Given the description of an element on the screen output the (x, y) to click on. 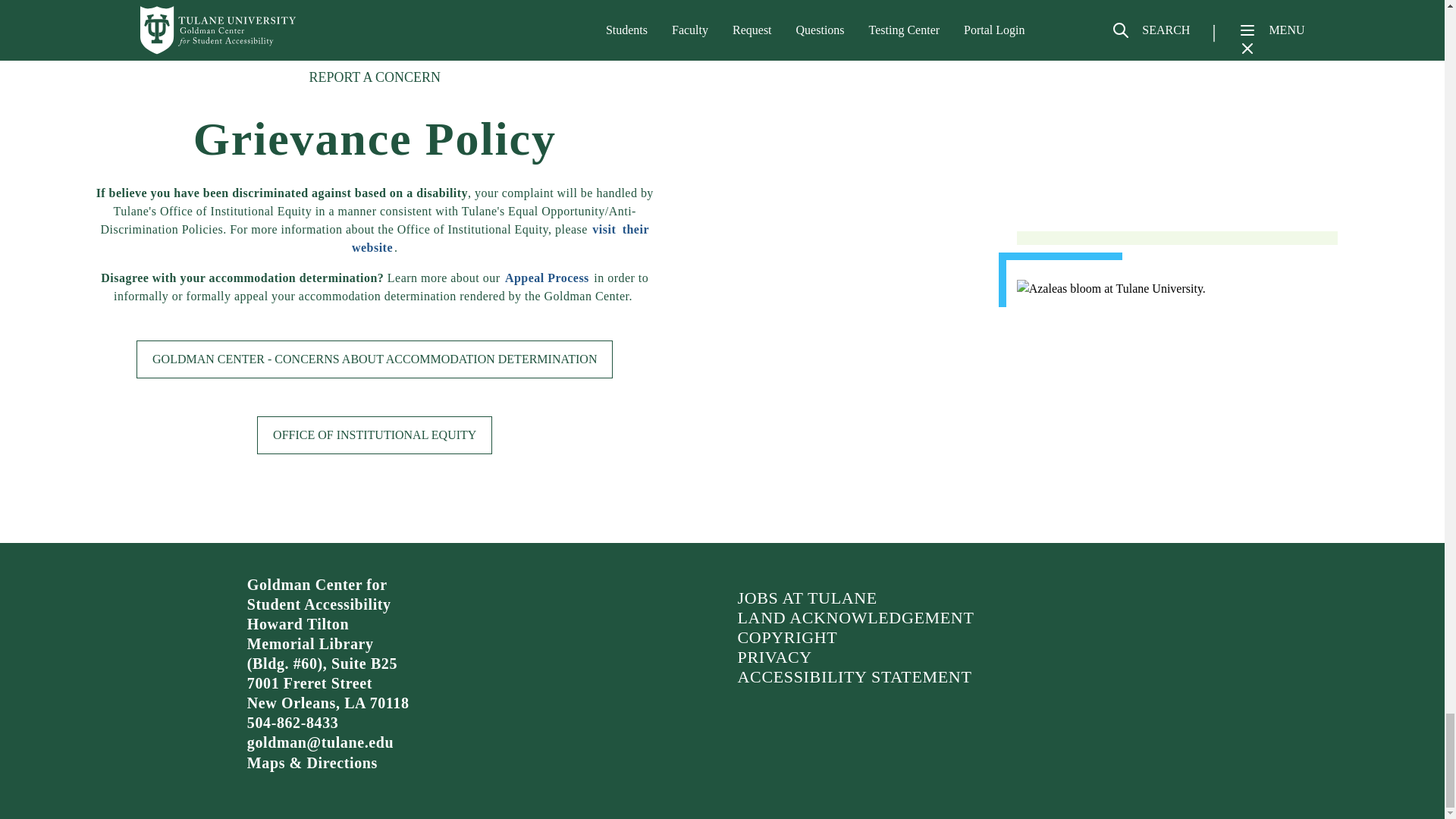
Tulane University Accessibility Statement  (853, 676)
